Given the description of an element on the screen output the (x, y) to click on. 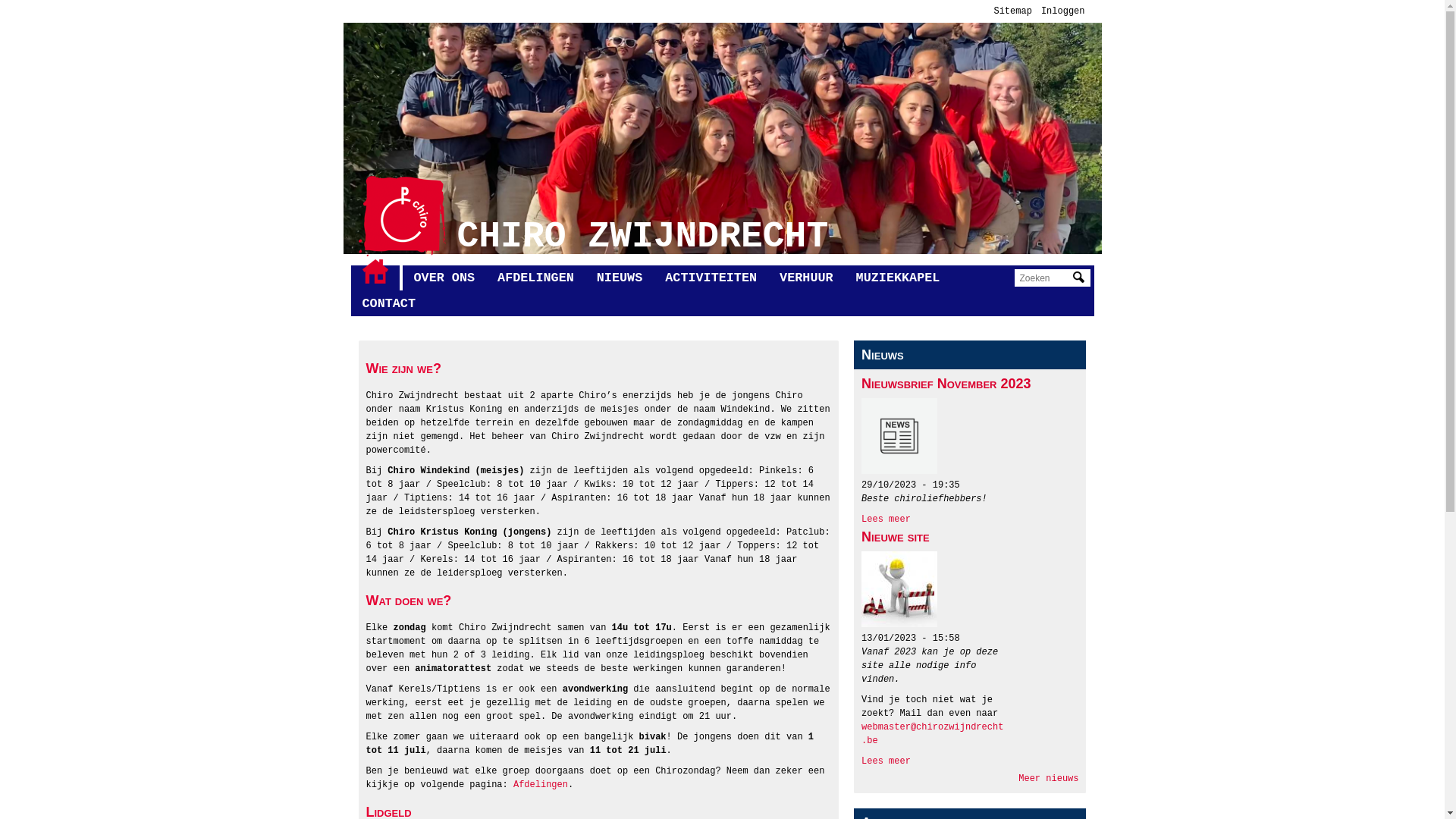
AFDELINGEN Element type: text (535, 278)
Home Element type: hover (401, 215)
HOME Element type: text (374, 271)
Sitemap Element type: text (1012, 11)
Meer nieuws Element type: text (1048, 778)
Jump to navigation Element type: text (722, 2)
CONTACT Element type: text (388, 303)
VERHUUR Element type: text (806, 278)
Lees meer Element type: text (885, 761)
webmaster@chirozwijndrecht.be Element type: text (932, 733)
MUZIEKKAPEL Element type: text (897, 278)
CHIRO ZWIJNDRECHT Element type: text (642, 236)
ACTIVITEITEN Element type: text (710, 278)
OVER ONS Element type: text (443, 278)
NIEUWS Element type: text (619, 278)
Inloggen Element type: text (1063, 11)
Geef de woorden op waarnaar u wilt zoeken. Element type: hover (1043, 277)
Lees meer Element type: text (885, 519)
Nieuwsbrief November 2023 Element type: text (945, 383)
Nieuwe site Element type: text (895, 536)
Afdelingen Element type: text (540, 784)
